Given the description of an element on the screen output the (x, y) to click on. 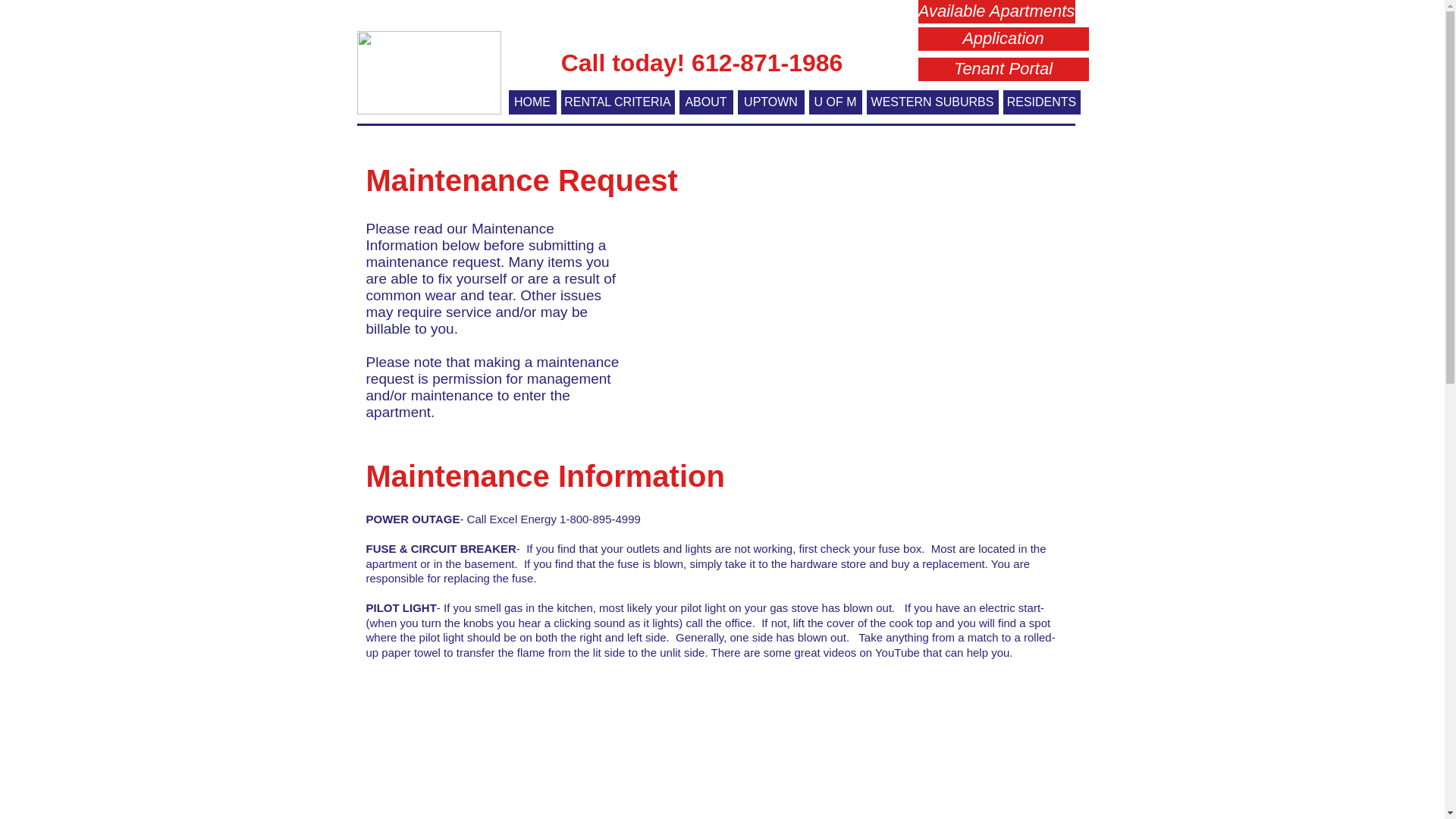
RENTAL CRITERIA (617, 102)
Logo-new-no-phone.png (428, 72)
Available Apartments (995, 11)
Tenant Portal (1002, 69)
U OF M (834, 102)
UPTOWN (769, 102)
ABOUT (706, 102)
External YouTube (698, 745)
HOME (532, 102)
Application (1002, 38)
